Given the description of an element on the screen output the (x, y) to click on. 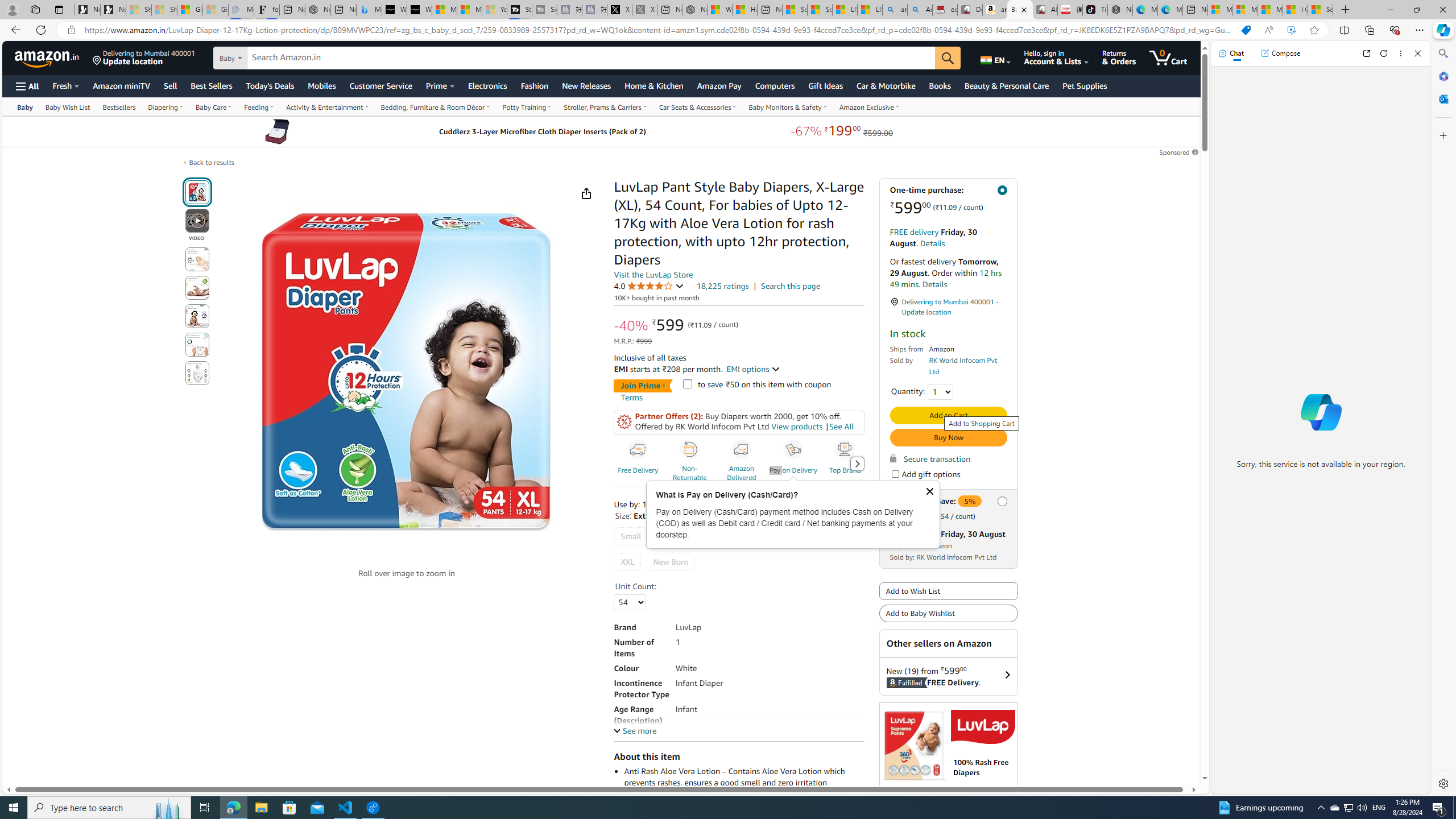
Nordace - #1 Japanese Best-Seller - Siena Smart Backpack (316, 9)
More options (1401, 53)
Wildlife - MSN (718, 9)
Outlook (1442, 98)
amazon.in/dp/B0CX59H5W7/?tag=gsmcom05-21 (993, 9)
TikTok (1094, 9)
Side bar (1443, 418)
Customize (1442, 135)
Search (1442, 53)
